Given the description of an element on the screen output the (x, y) to click on. 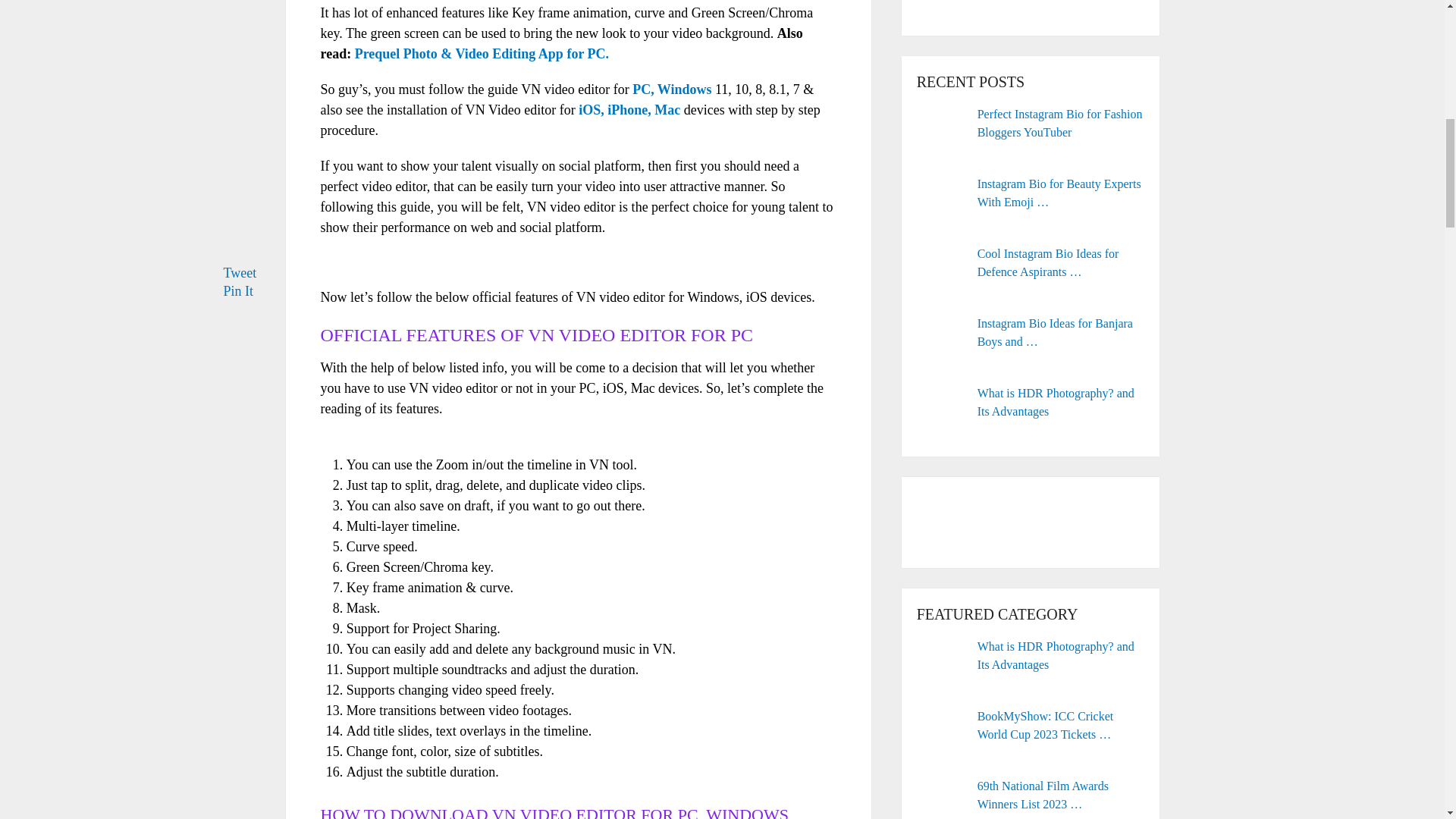
PC, Windows (672, 89)
iOS, iPhone, Mac (628, 109)
